Given the description of an element on the screen output the (x, y) to click on. 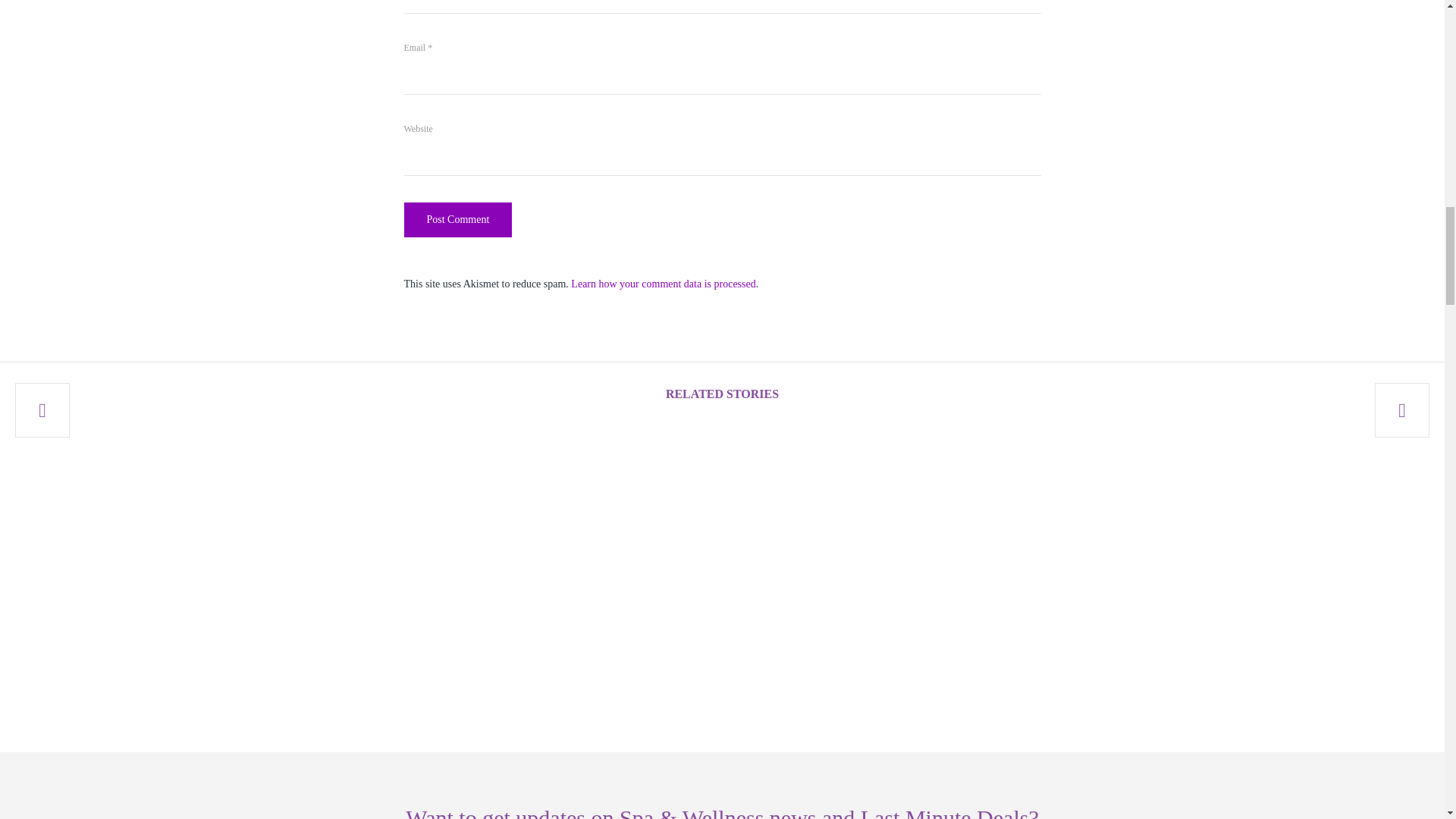
Learn how your comment data is processed (662, 284)
Post Comment (457, 219)
Post Comment (457, 219)
